Given the description of an element on the screen output the (x, y) to click on. 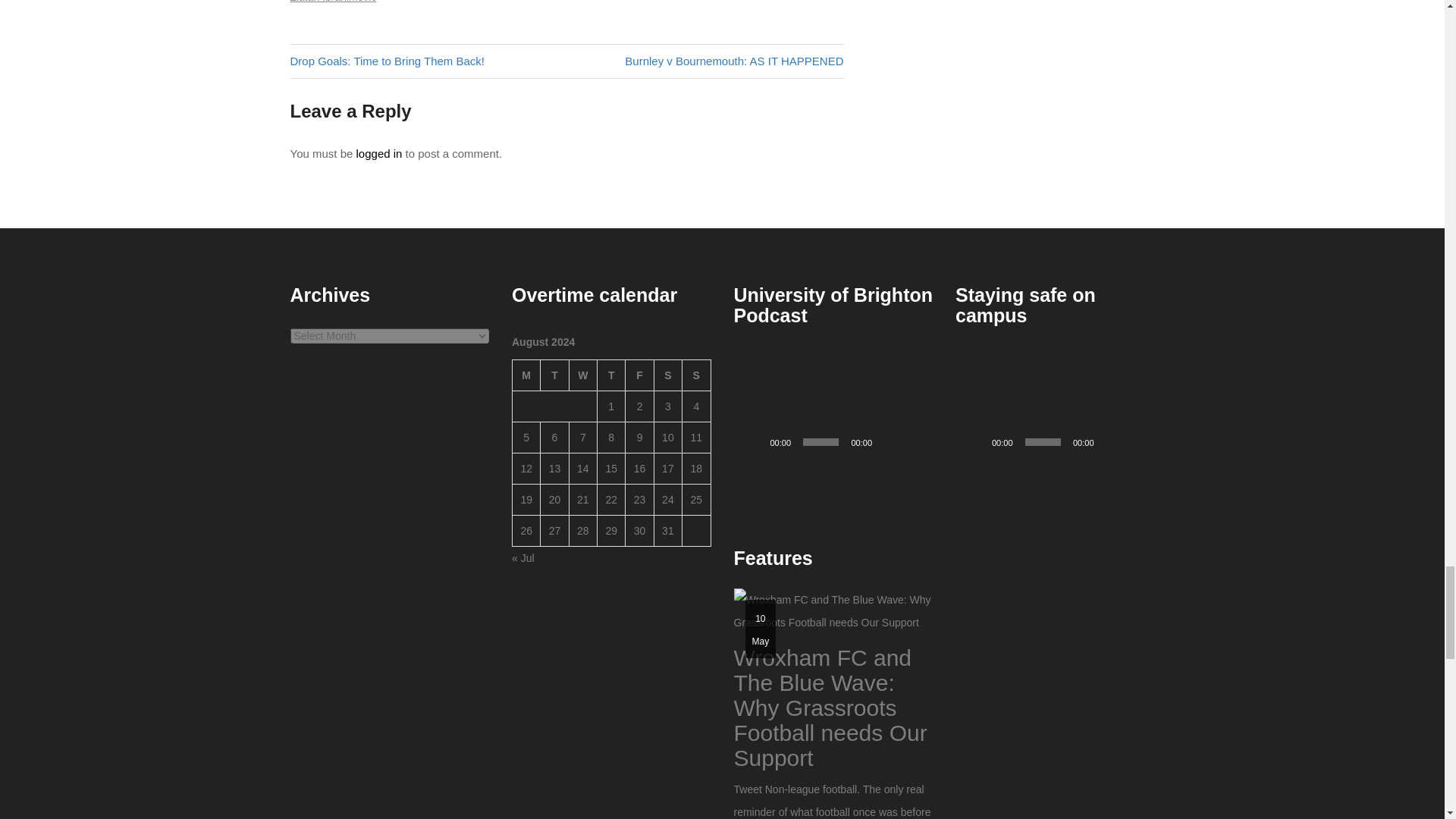
Monday (526, 375)
Mute (888, 441)
Sunday (696, 375)
Thursday (611, 375)
Play (753, 441)
Wednesday (582, 375)
Saturday (667, 375)
Tuesday (554, 375)
Friday (639, 375)
